Given the description of an element on the screen output the (x, y) to click on. 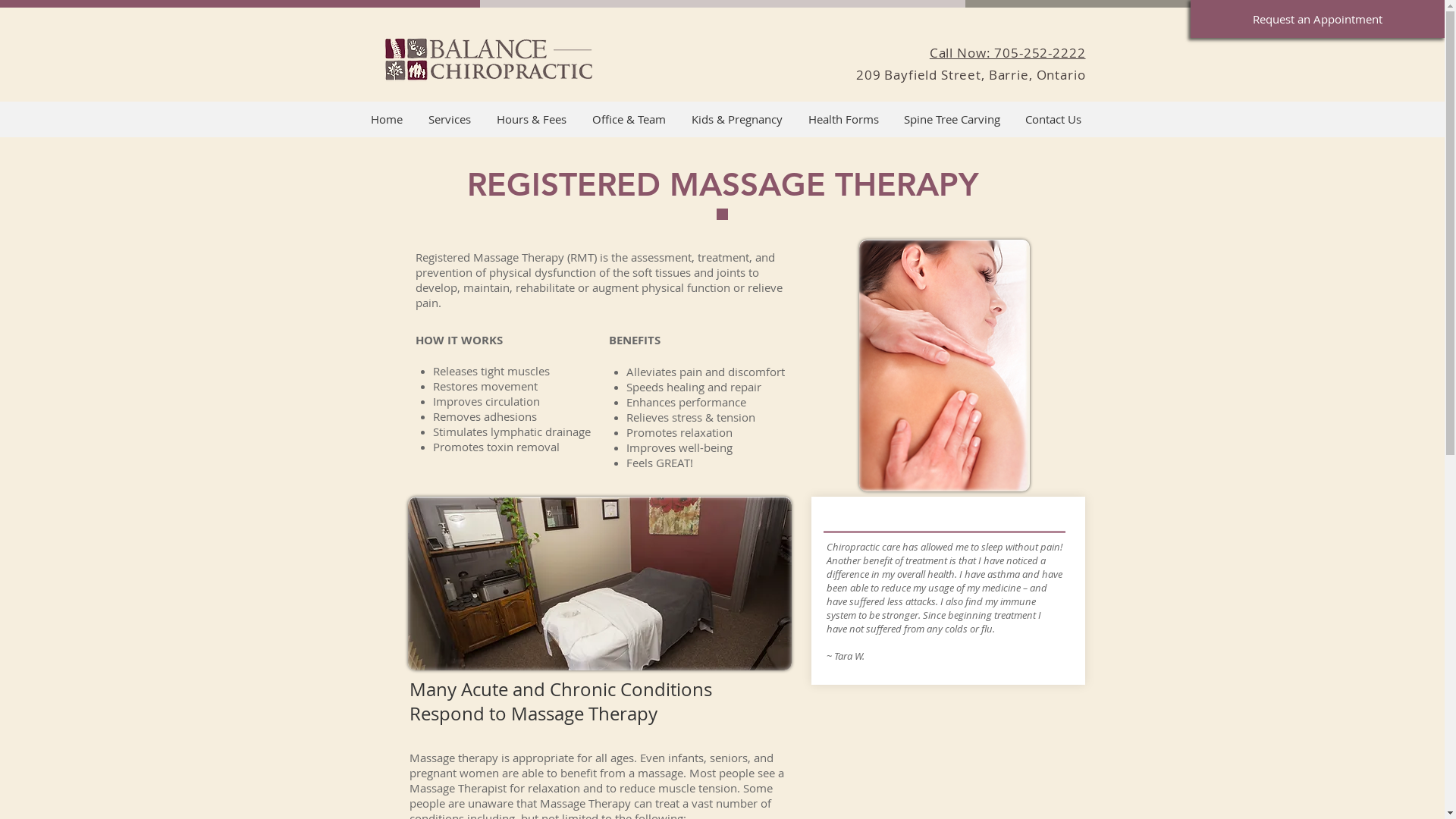
Call Now: 705-252-2222 Element type: text (1007, 52)
Request an Appointment Element type: text (1317, 18)
Health Forms Element type: text (842, 118)
Kids & Pregnancy Element type: text (735, 118)
Contact Us Element type: text (1053, 118)
Hours & Fees Element type: text (531, 118)
Home Element type: text (386, 118)
Spine Tree Carving Element type: text (952, 118)
